Given the description of an element on the screen output the (x, y) to click on. 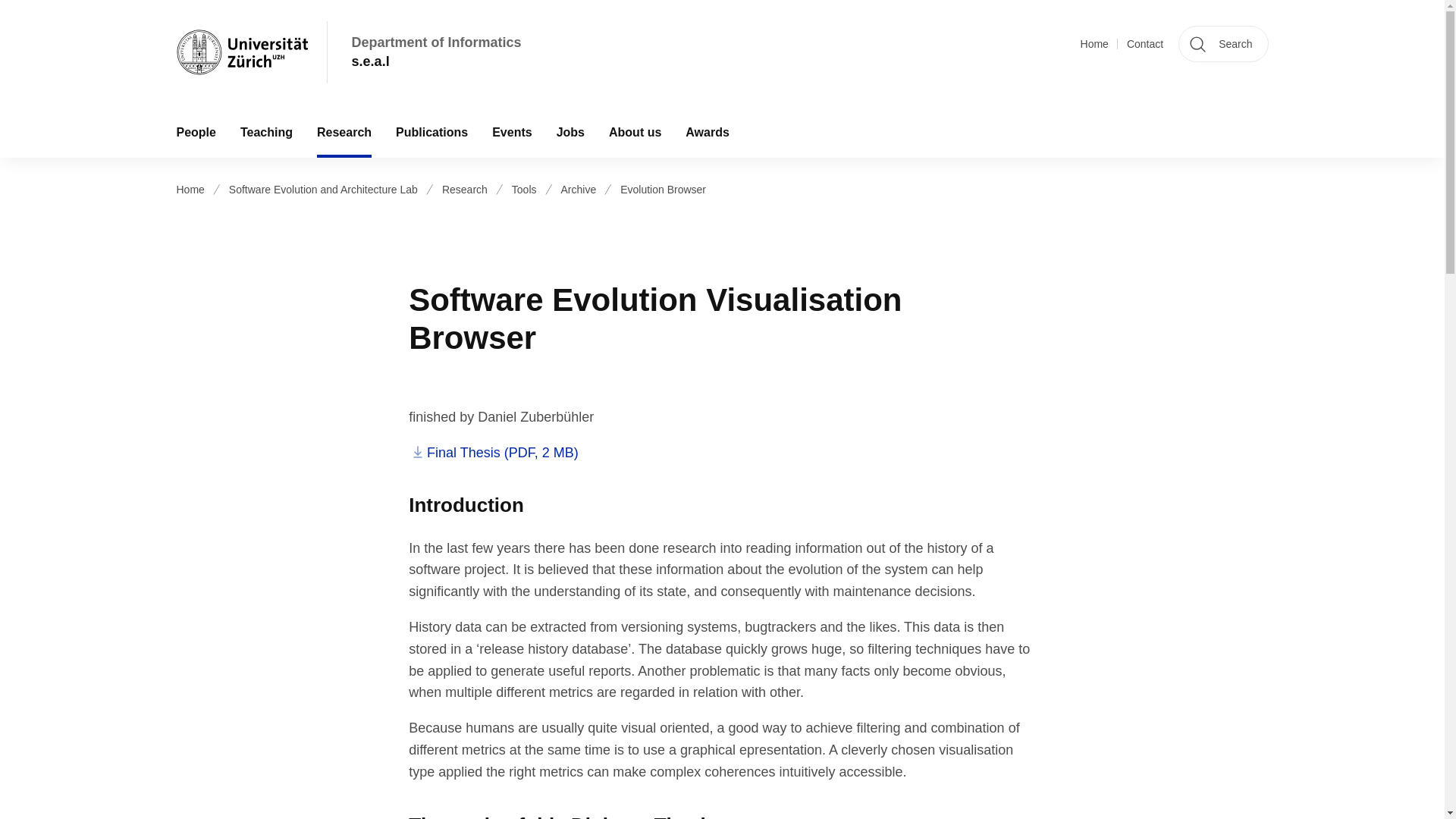
Department of Informatics (436, 42)
People (195, 132)
s.e.a.l (436, 61)
Search (1222, 43)
Contact (1144, 44)
Home (1094, 44)
Teaching (266, 132)
